Given the description of an element on the screen output the (x, y) to click on. 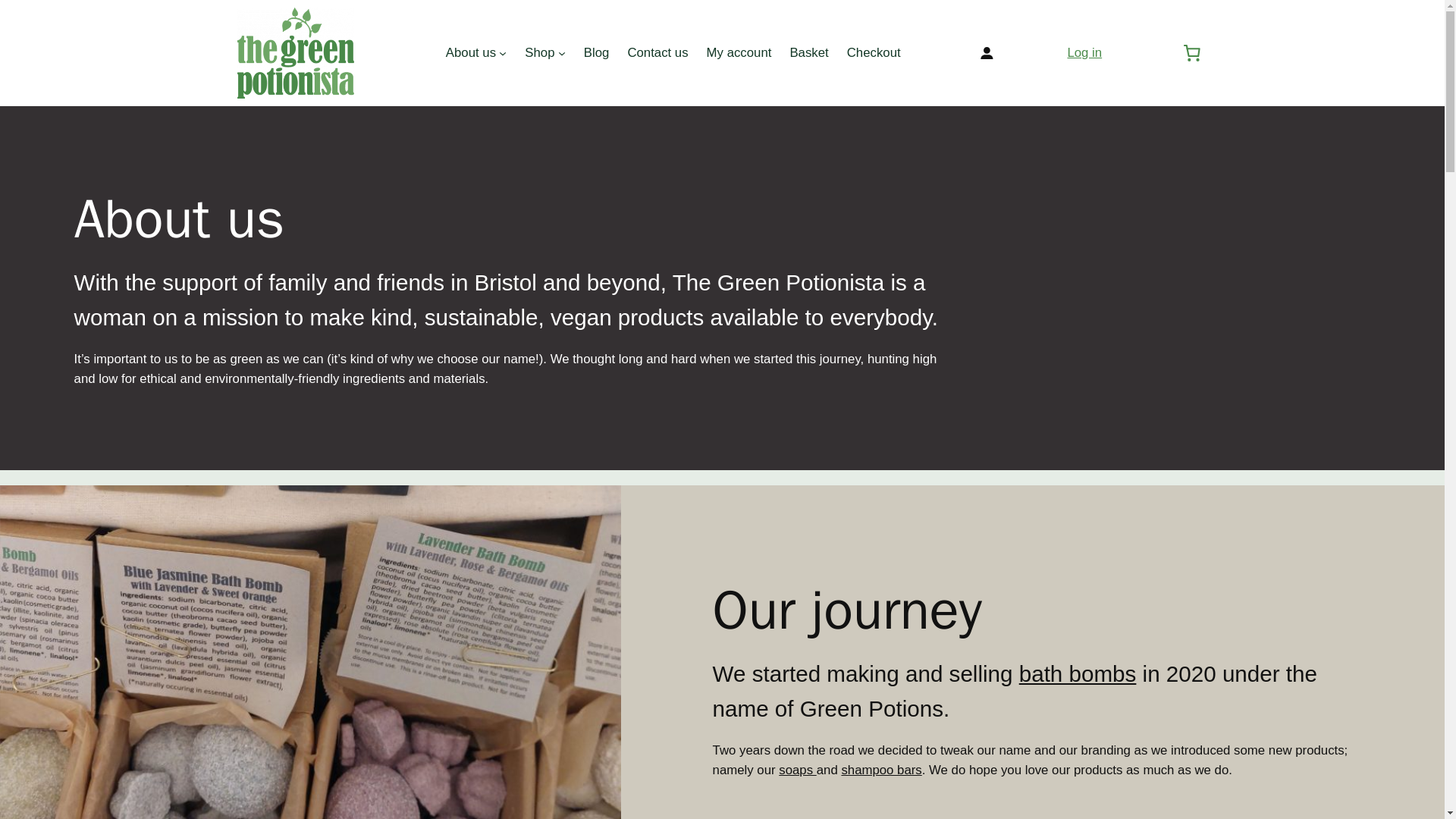
Checkout (874, 53)
My account (738, 53)
Log in (1084, 52)
bath bombs (1078, 673)
Basket (808, 53)
soaps (796, 769)
Contact us (657, 53)
About us (470, 53)
Shop (539, 53)
Blog (596, 53)
shampoo bars (881, 769)
